Given the description of an element on the screen output the (x, y) to click on. 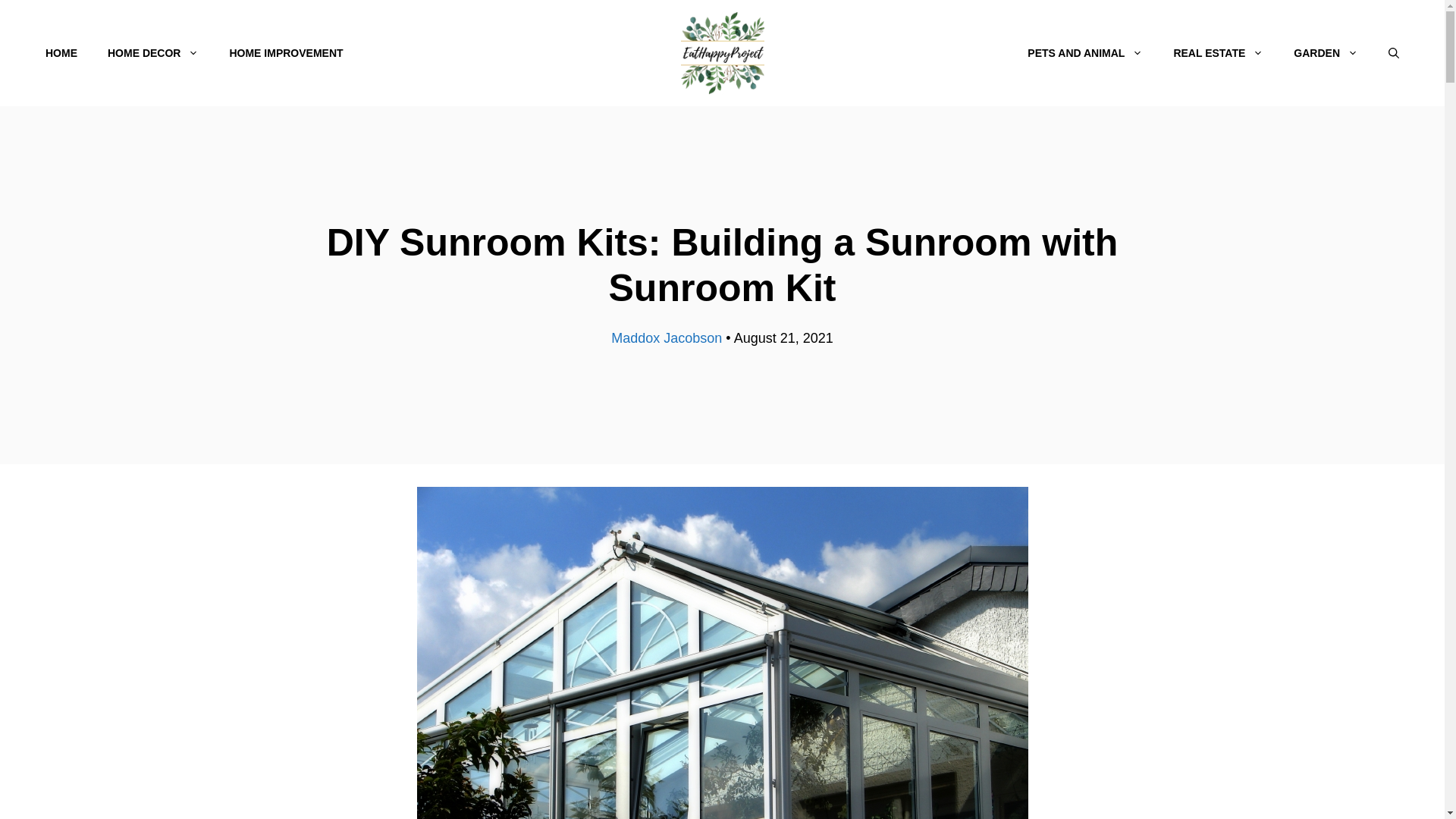
HOME IMPROVEMENT (286, 53)
GARDEN (1325, 53)
HOME (61, 53)
PETS AND ANIMAL (1084, 53)
View all posts by Maddox Jacobson (666, 337)
MENU ITEM SEPARATOR (685, 53)
HOME DECOR (153, 53)
REAL ESTATE (1217, 53)
